Given the description of an element on the screen output the (x, y) to click on. 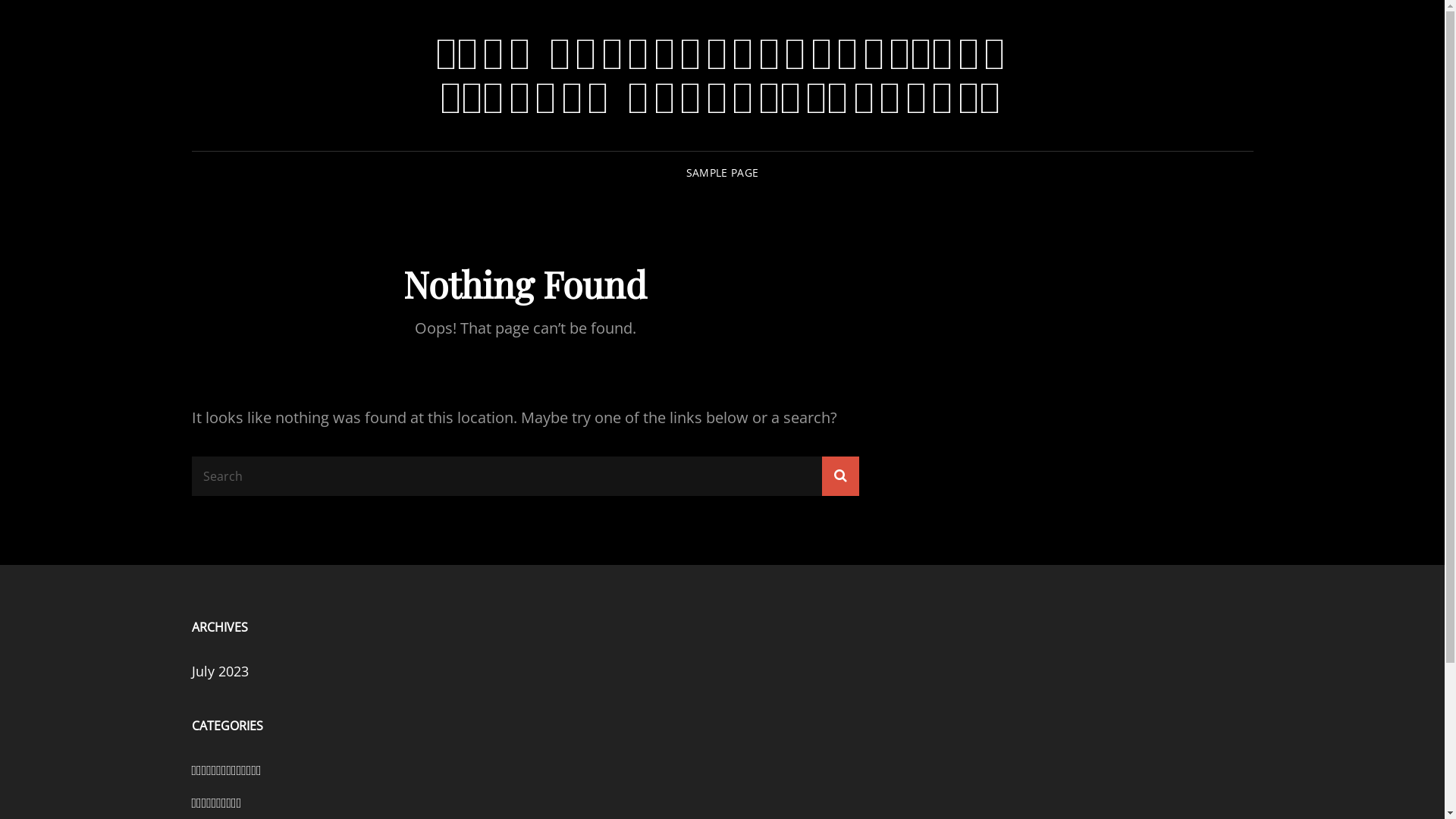
Search Element type: text (840, 475)
SAMPLE PAGE Element type: text (722, 172)
July 2023 Element type: text (219, 671)
